Given the description of an element on the screen output the (x, y) to click on. 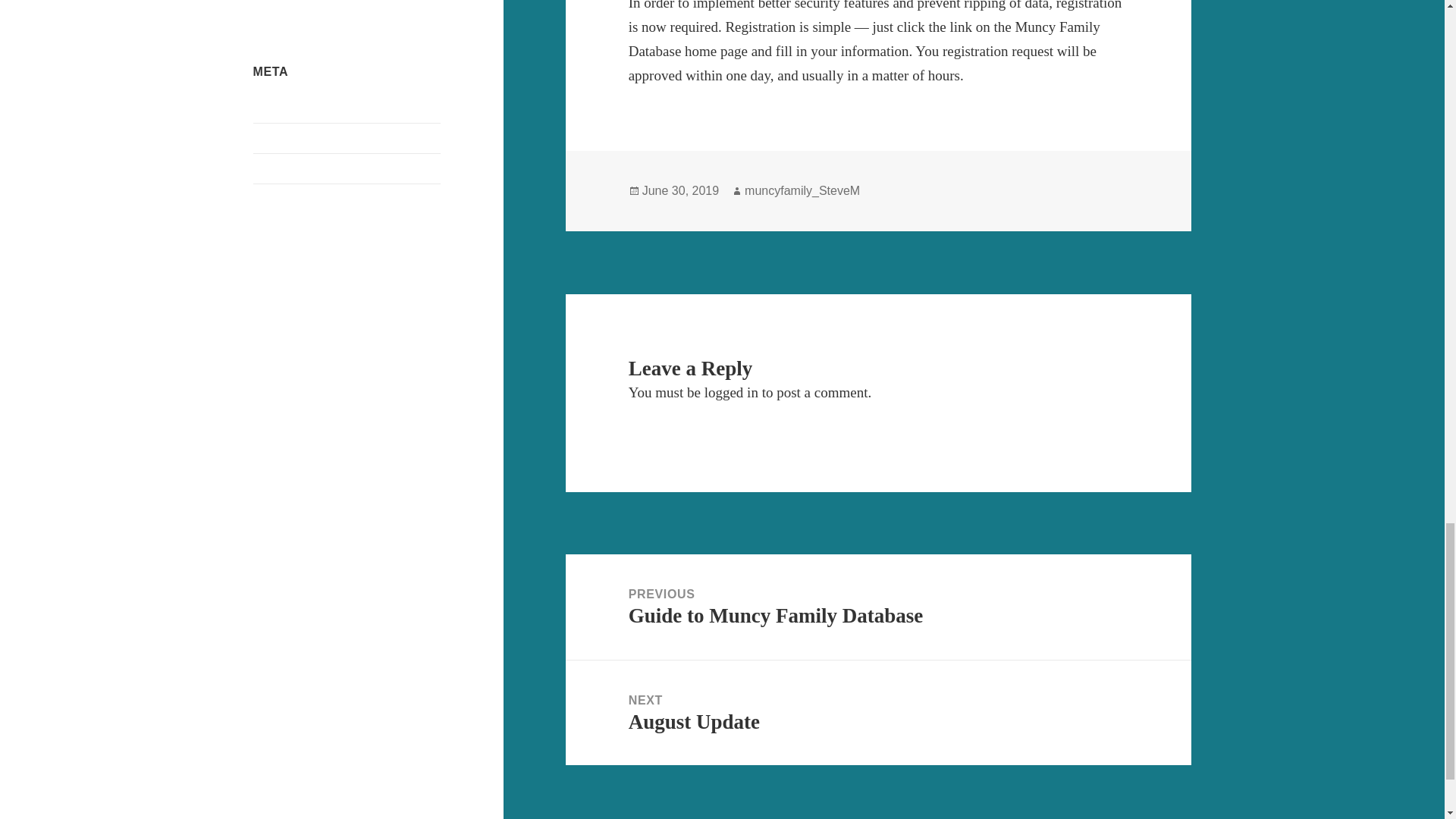
Entries feed (282, 137)
June 30, 2019 (680, 191)
Log in (269, 107)
Comments feed (291, 168)
WordPress.org (288, 198)
